Given the description of an element on the screen output the (x, y) to click on. 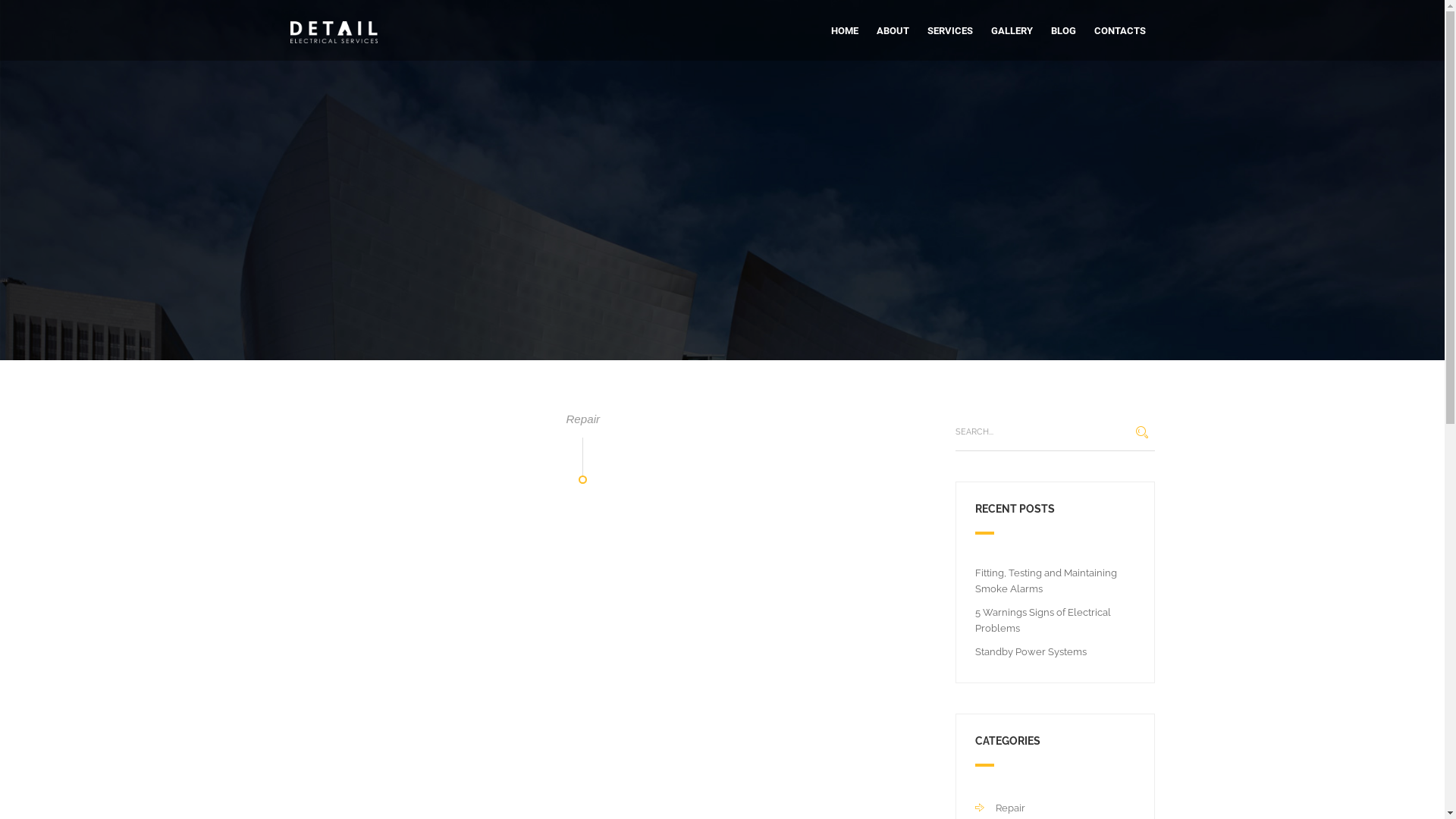
BLOG Element type: text (1063, 31)
Standby Power Systems Element type: text (1030, 651)
Fitting, Testing and Maintaining Smoke Alarms Element type: text (1046, 580)
HOME Element type: text (844, 31)
ABOUT Element type: text (892, 31)
CONTACTS Element type: text (1119, 31)
Repair Element type: text (1000, 807)
5 Warnings Signs of Electrical Problems Element type: text (1042, 619)
SERVICES Element type: text (949, 31)
GALLERY Element type: text (1011, 31)
